Given the description of an element on the screen output the (x, y) to click on. 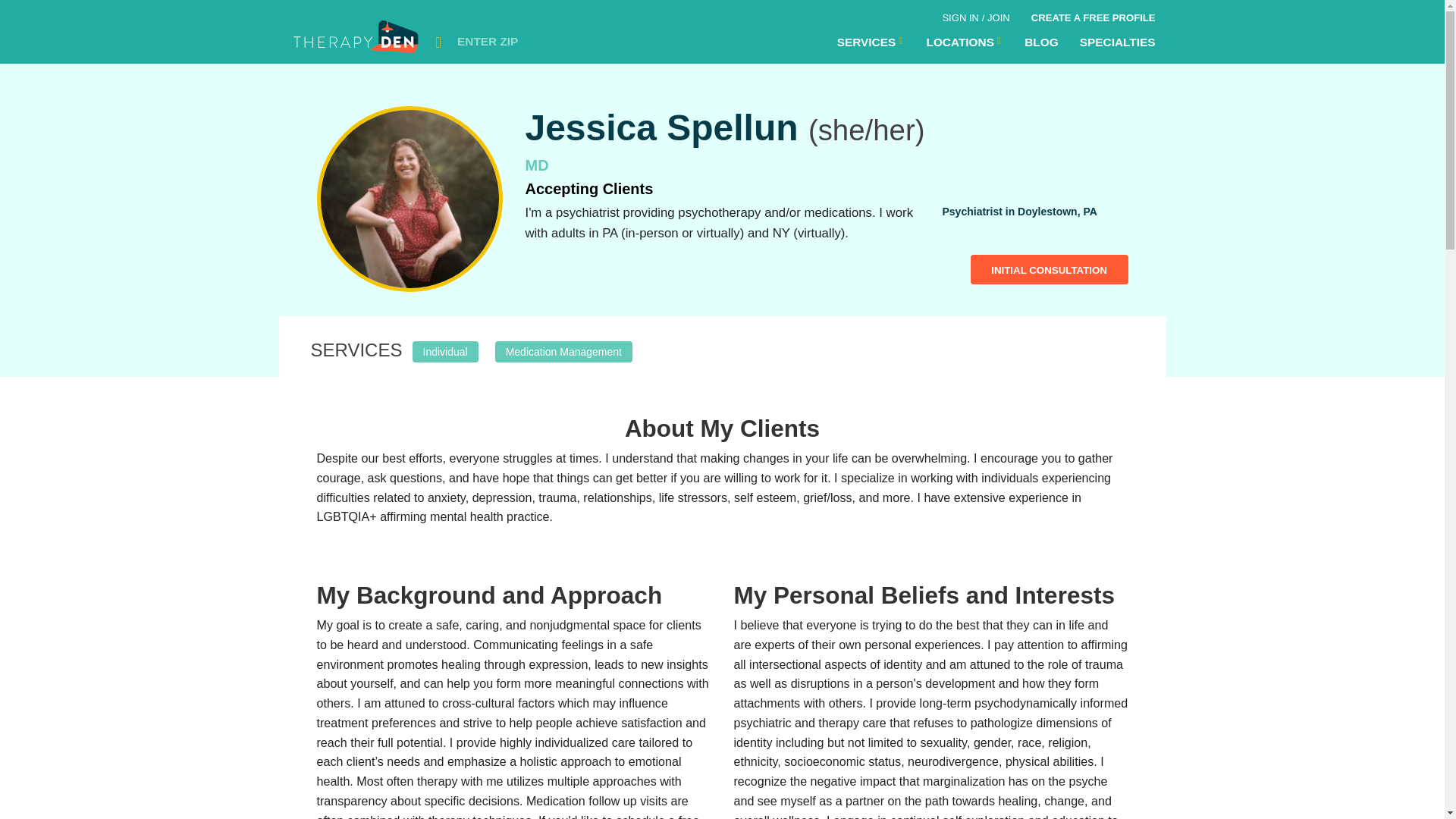
CREATE A FREE PROFILE (1093, 15)
SPECIALTIES (1117, 41)
TherapyDen Home (357, 41)
Locations (964, 41)
Medication Management (563, 349)
Locations (871, 41)
Individual (445, 349)
LOCATIONS (964, 41)
BLOG (1040, 41)
Send email to Jessica Spellun (1049, 269)
INITIAL CONSULTATION (1049, 269)
Contact Jessica Spellun, Psychiatrist (409, 198)
Blog (1040, 41)
SERVICES (871, 41)
Specialties (1117, 41)
